Given the description of an element on the screen output the (x, y) to click on. 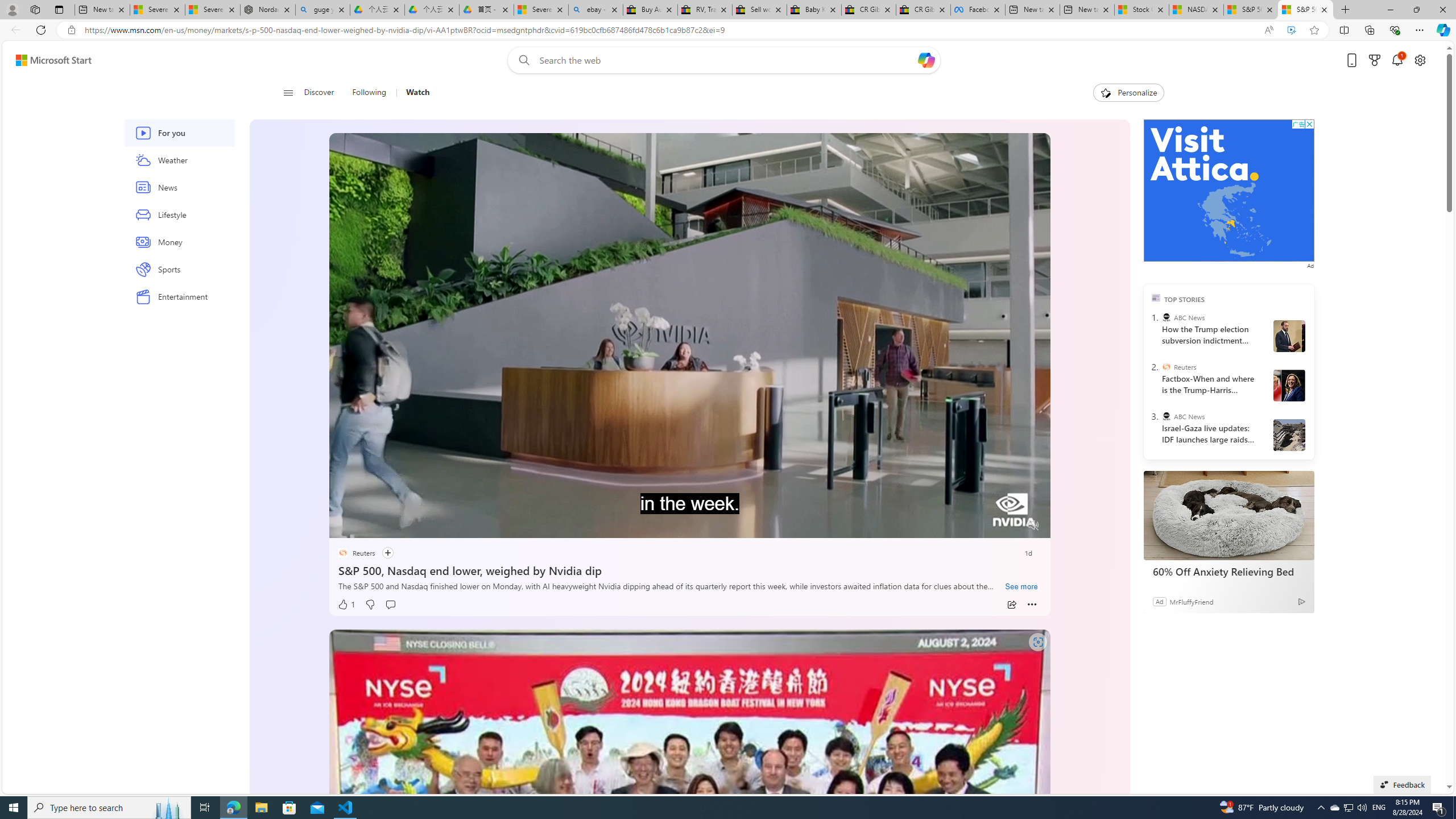
ABC News (1165, 415)
60% Off Anxiety Relieving Bed (1227, 571)
Share (1010, 604)
placeholder Reuters (355, 552)
